Given the description of an element on the screen output the (x, y) to click on. 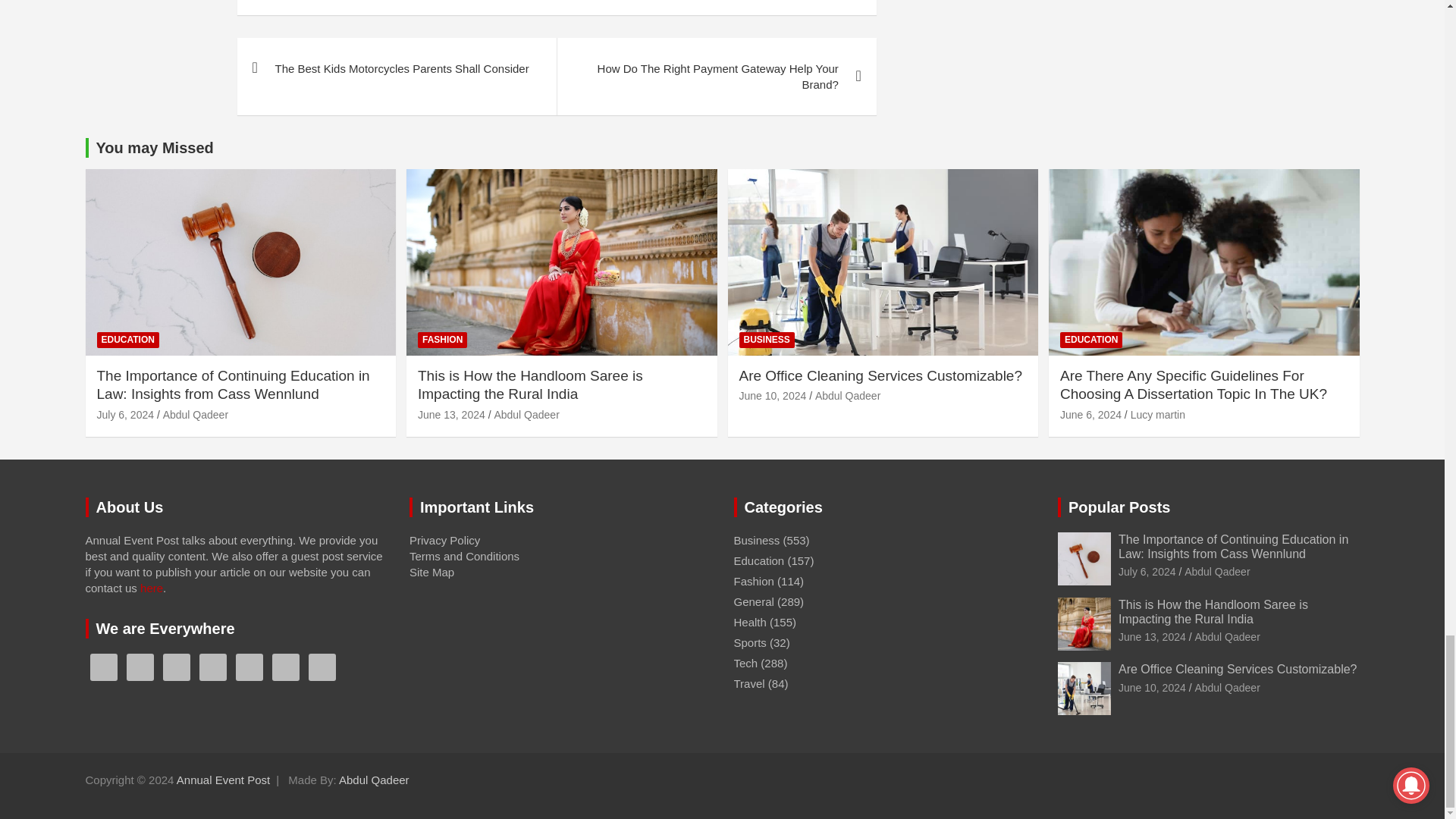
How Do The Right Payment Gateway Help Your Brand? (716, 76)
This is How the Handloom Saree is Impacting the Rural India (450, 414)
The Best Kids Motorcycles Parents Shall Consider (395, 68)
Are Office Cleaning Services Customizable? (772, 395)
